Given the description of an element on the screen output the (x, y) to click on. 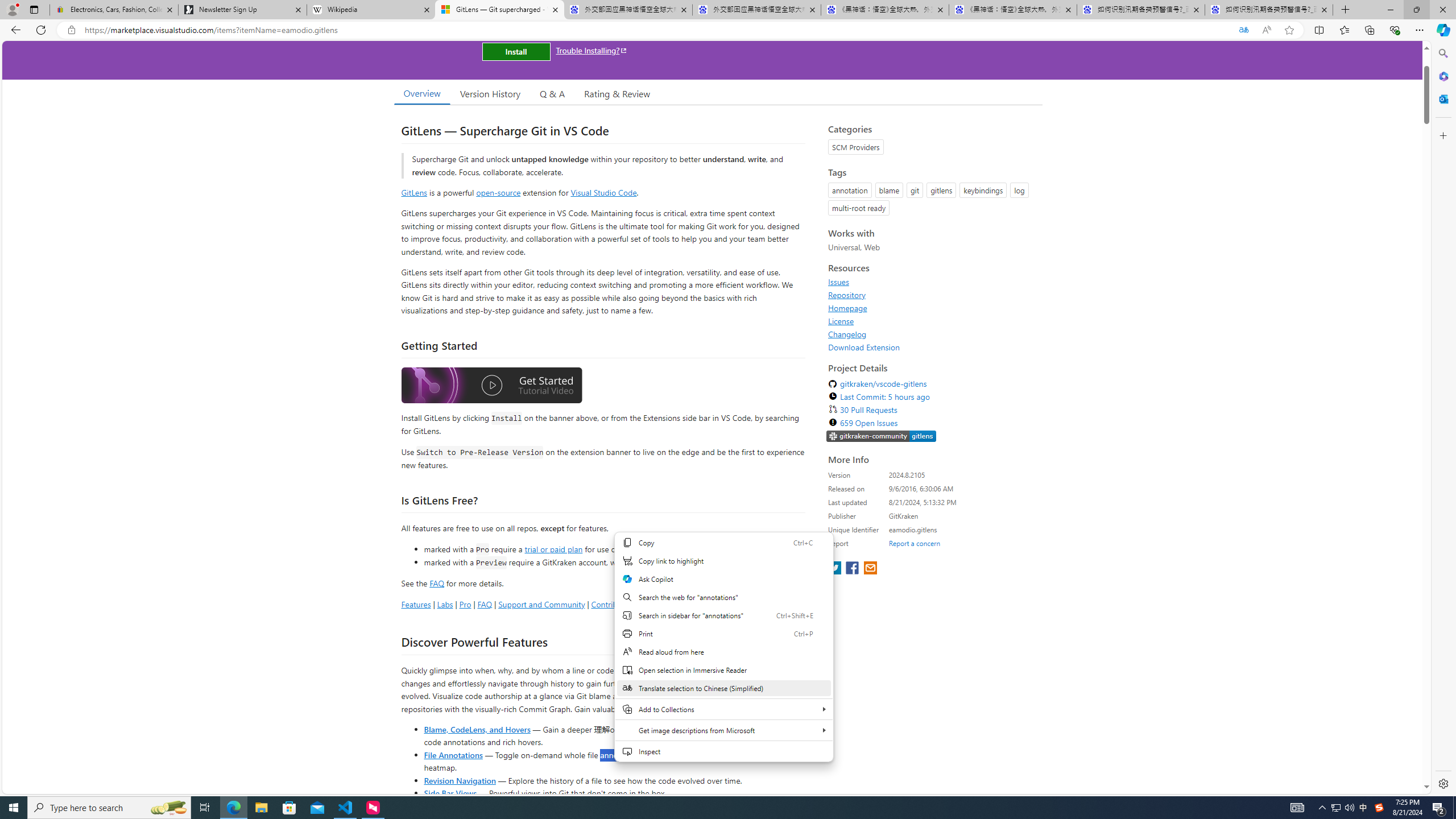
Changelog (847, 333)
Contributors (663, 603)
Newsletter Sign Up (242, 9)
Labs (444, 603)
Print (723, 633)
Revision Navigation (459, 780)
Changelog (931, 333)
Get image descriptions from Microsoft (723, 730)
